Given the description of an element on the screen output the (x, y) to click on. 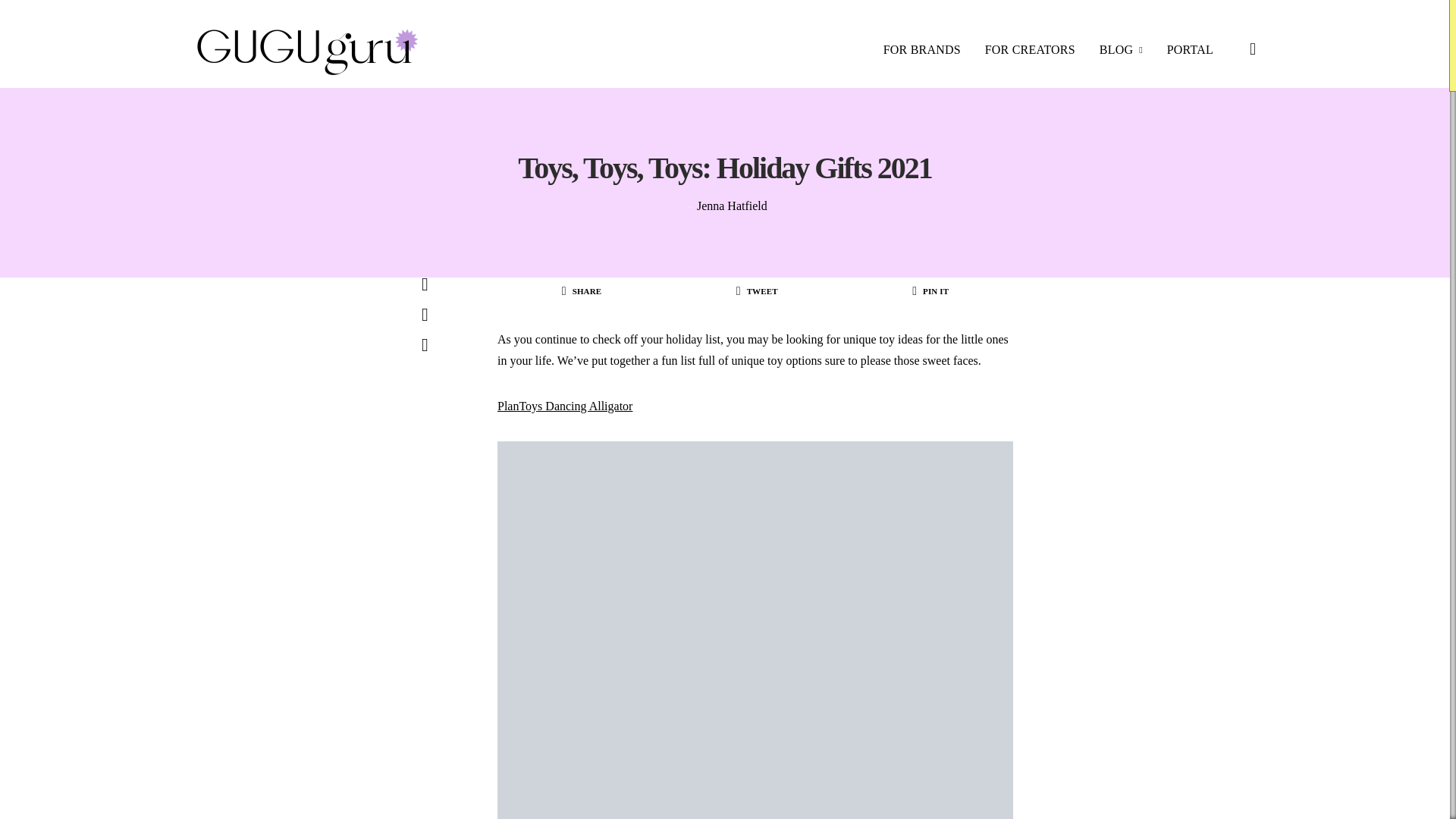
View all posts by Jenna Hatfield (732, 205)
FOR BRANDS (921, 49)
FOR CREATORS (1030, 49)
